Given the description of an element on the screen output the (x, y) to click on. 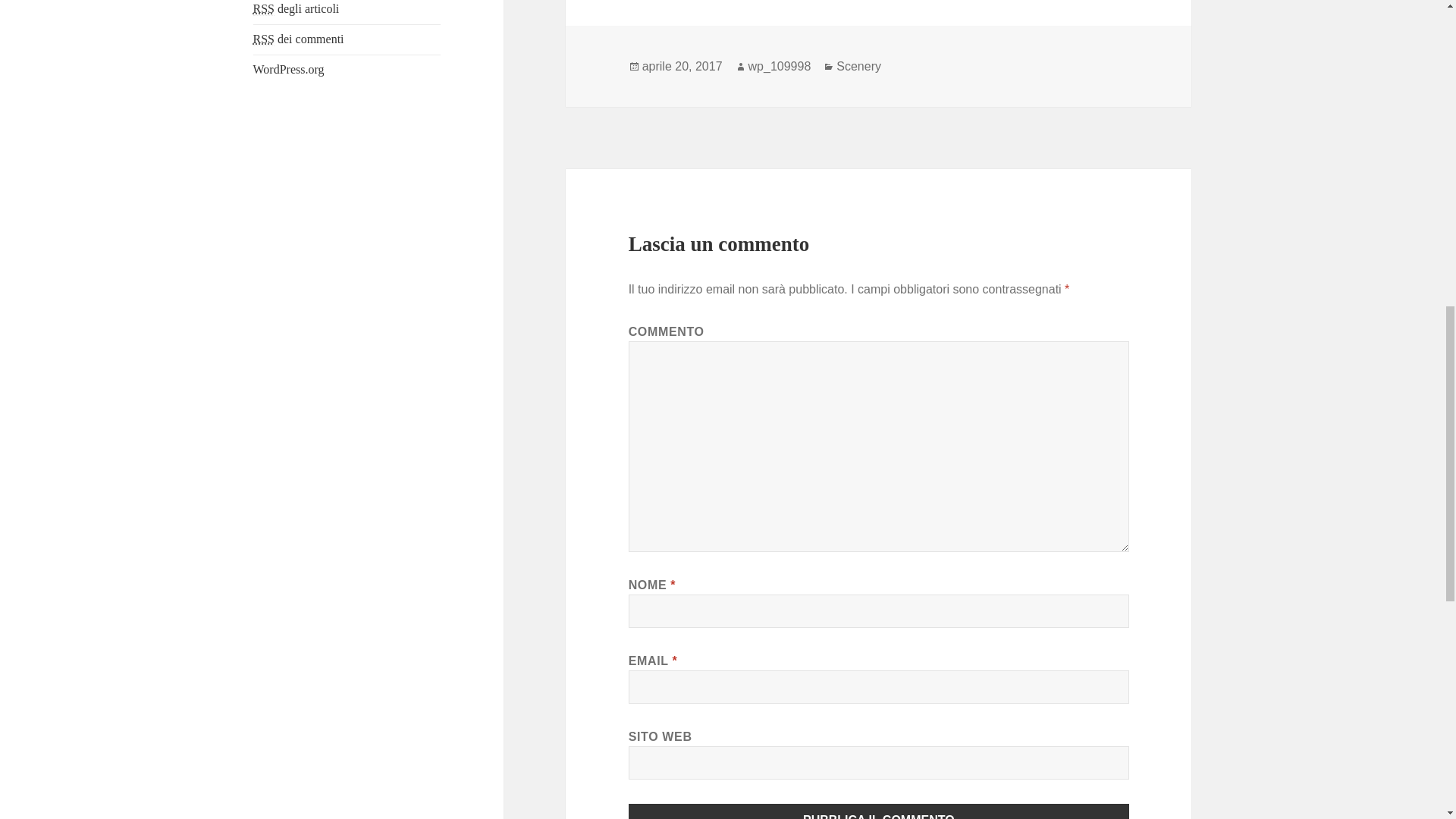
Pubblica il commento (878, 811)
Scenery (857, 66)
Really Simple Syndication (264, 38)
RSS dei commenti (298, 38)
RSS degli articoli (296, 8)
Really Simple Syndication (264, 8)
aprile 20, 2017 (682, 66)
Pubblica il commento (878, 811)
WordPress.org (288, 69)
